Given the description of an element on the screen output the (x, y) to click on. 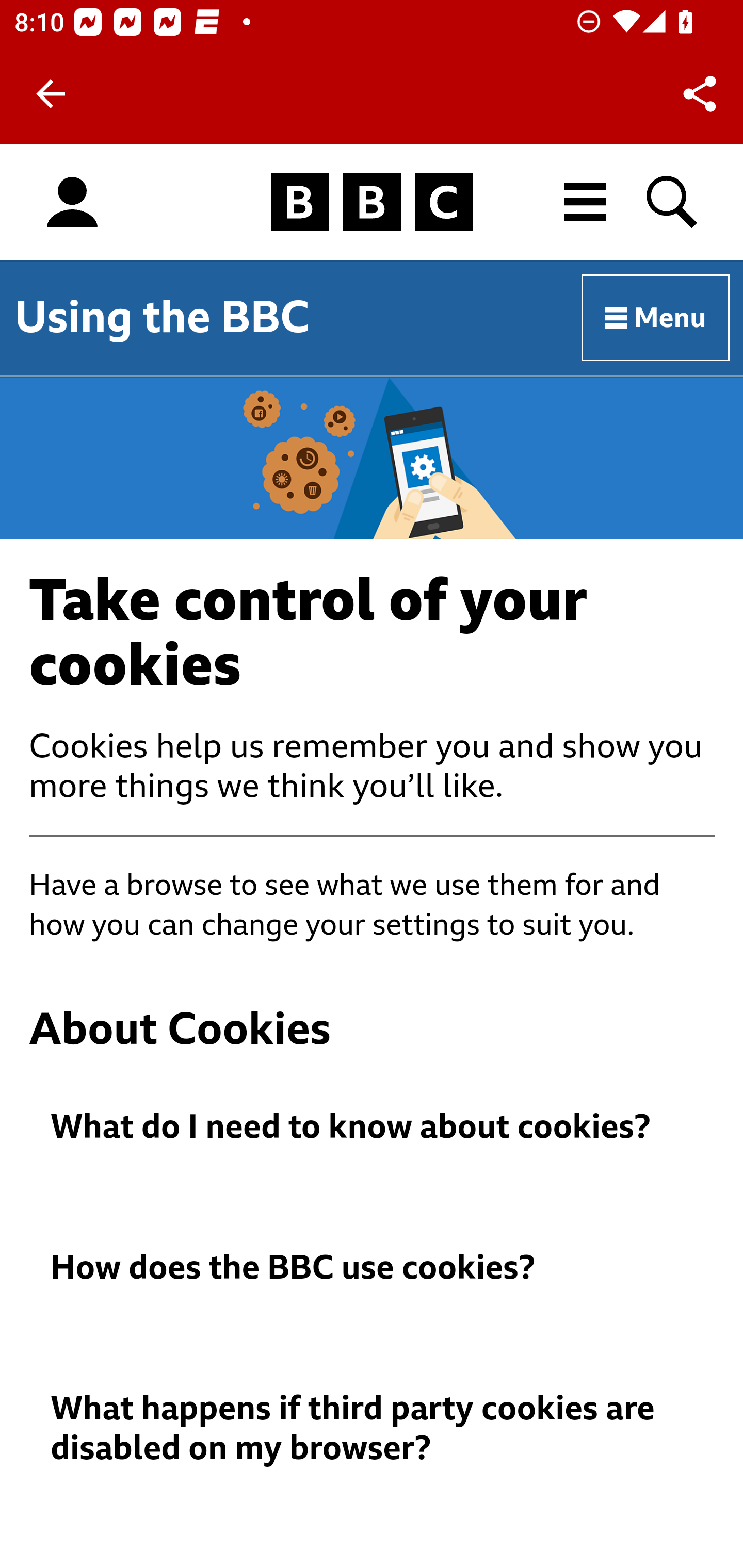
Back (50, 93)
Share (699, 93)
All BBC destinations menu (585, 202)
Search BBC (672, 202)
Sign in (71, 203)
Homepage (371, 203)
Menu (656, 318)
Using the BBC (162, 317)
What do I need to know about cookies? (372, 1127)
How does the BBC use cookies? (372, 1267)
